Given the description of an element on the screen output the (x, y) to click on. 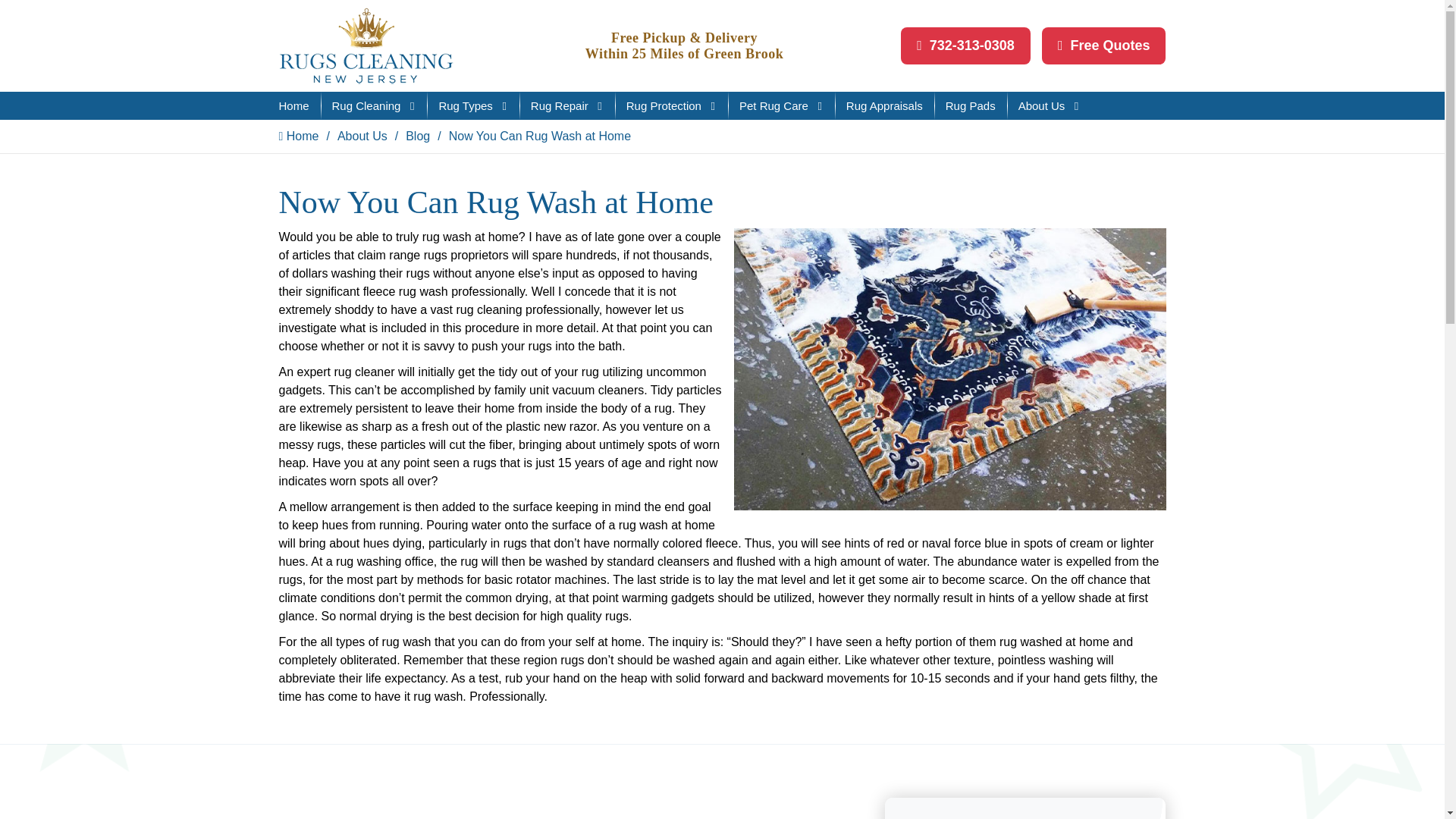
Rug Cleaning (373, 105)
Home (293, 105)
Rug Repair (567, 105)
732-313-0308 (965, 45)
Free Quotes (1104, 45)
Rug Types (472, 105)
